Given the description of an element on the screen output the (x, y) to click on. 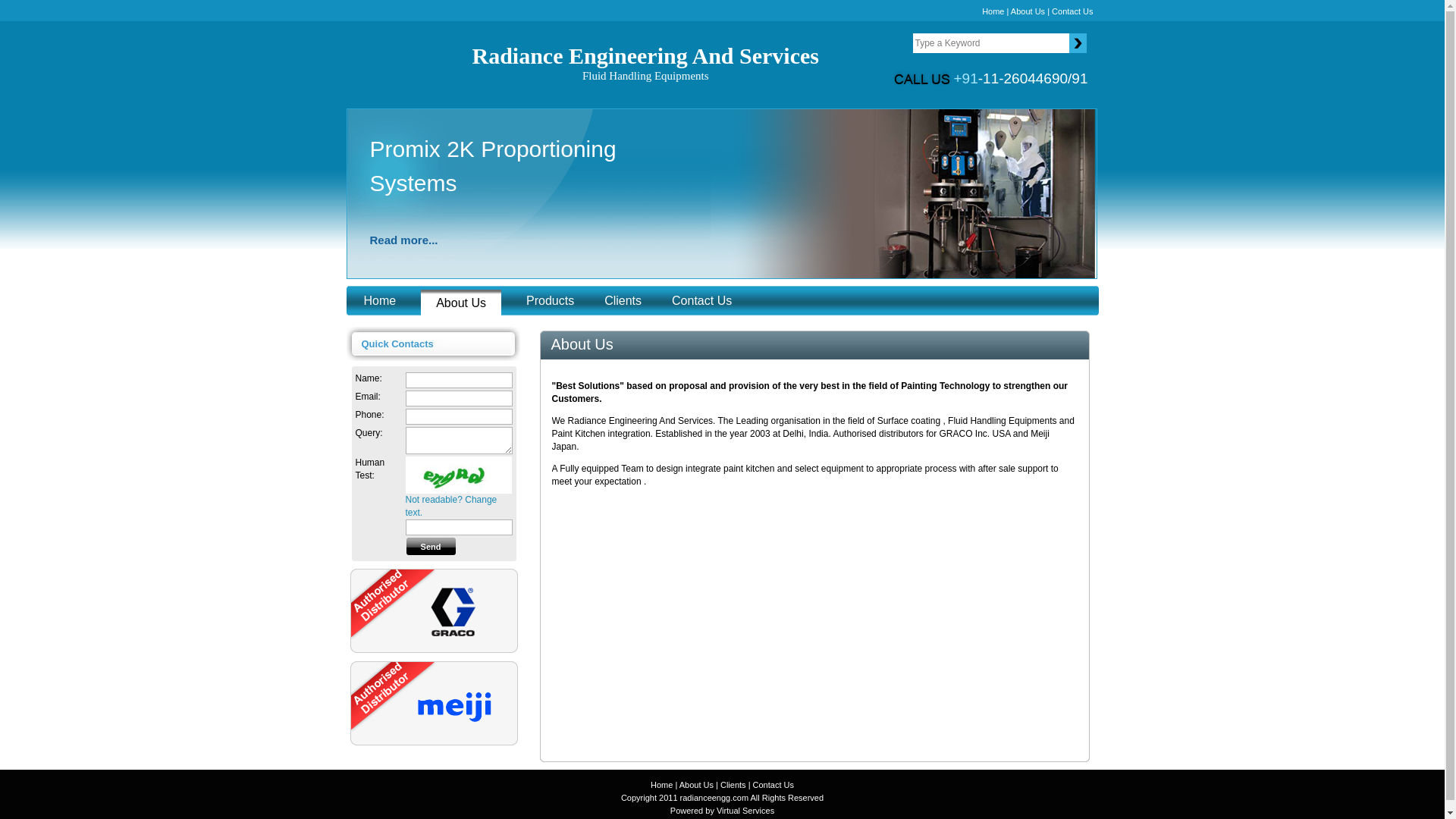
Home (644, 64)
GRACO (380, 300)
Home (452, 611)
Home (661, 784)
Read more... (992, 10)
Clients (529, 239)
Contact Us (622, 300)
meiji (1072, 10)
Contact Us (455, 706)
